Given the description of an element on the screen output the (x, y) to click on. 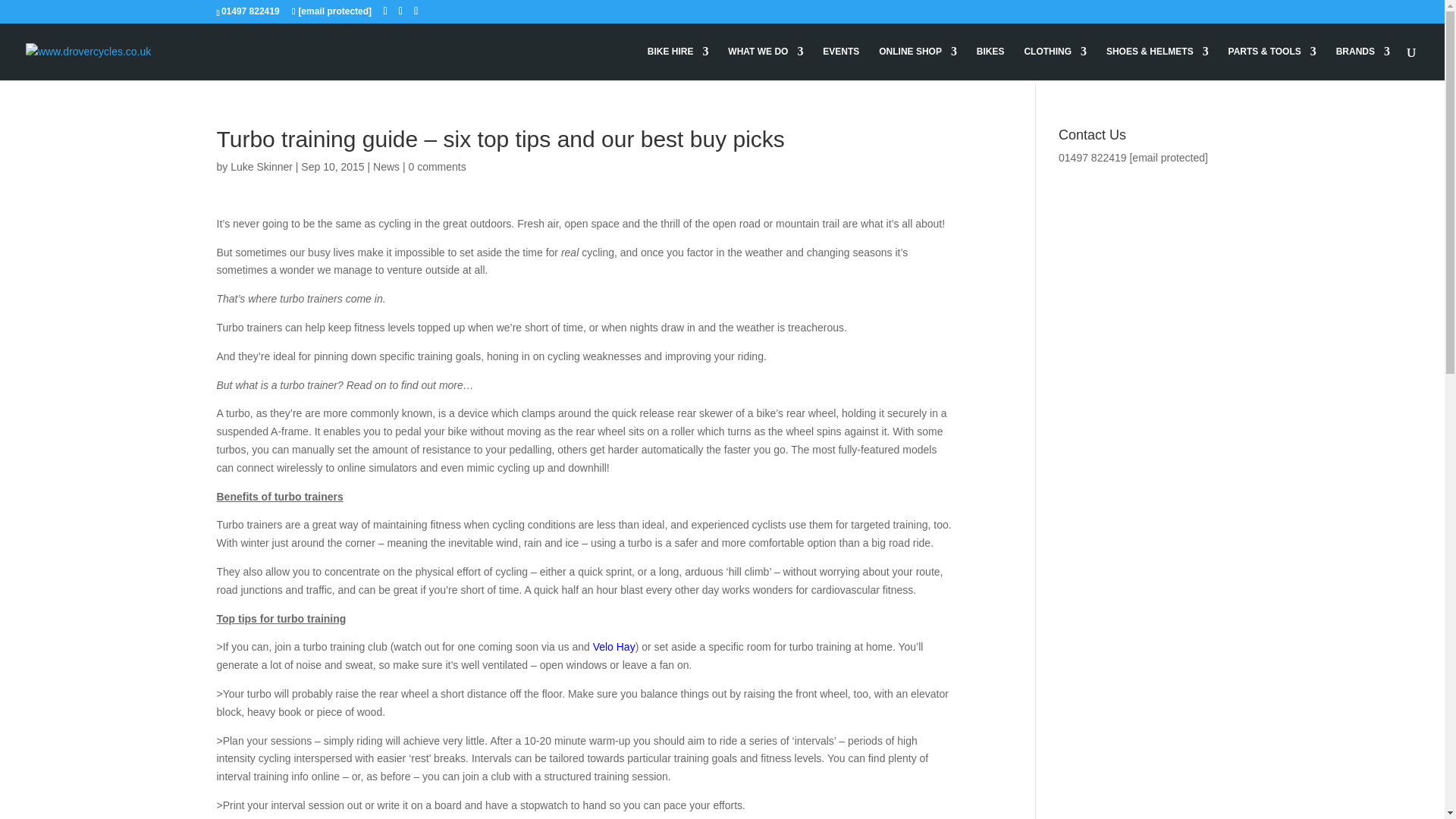
BIKE HIRE (678, 62)
Bike Hire (678, 62)
WHAT WE DO (765, 62)
Posts by Luke Skinner (261, 166)
